Given the description of an element on the screen output the (x, y) to click on. 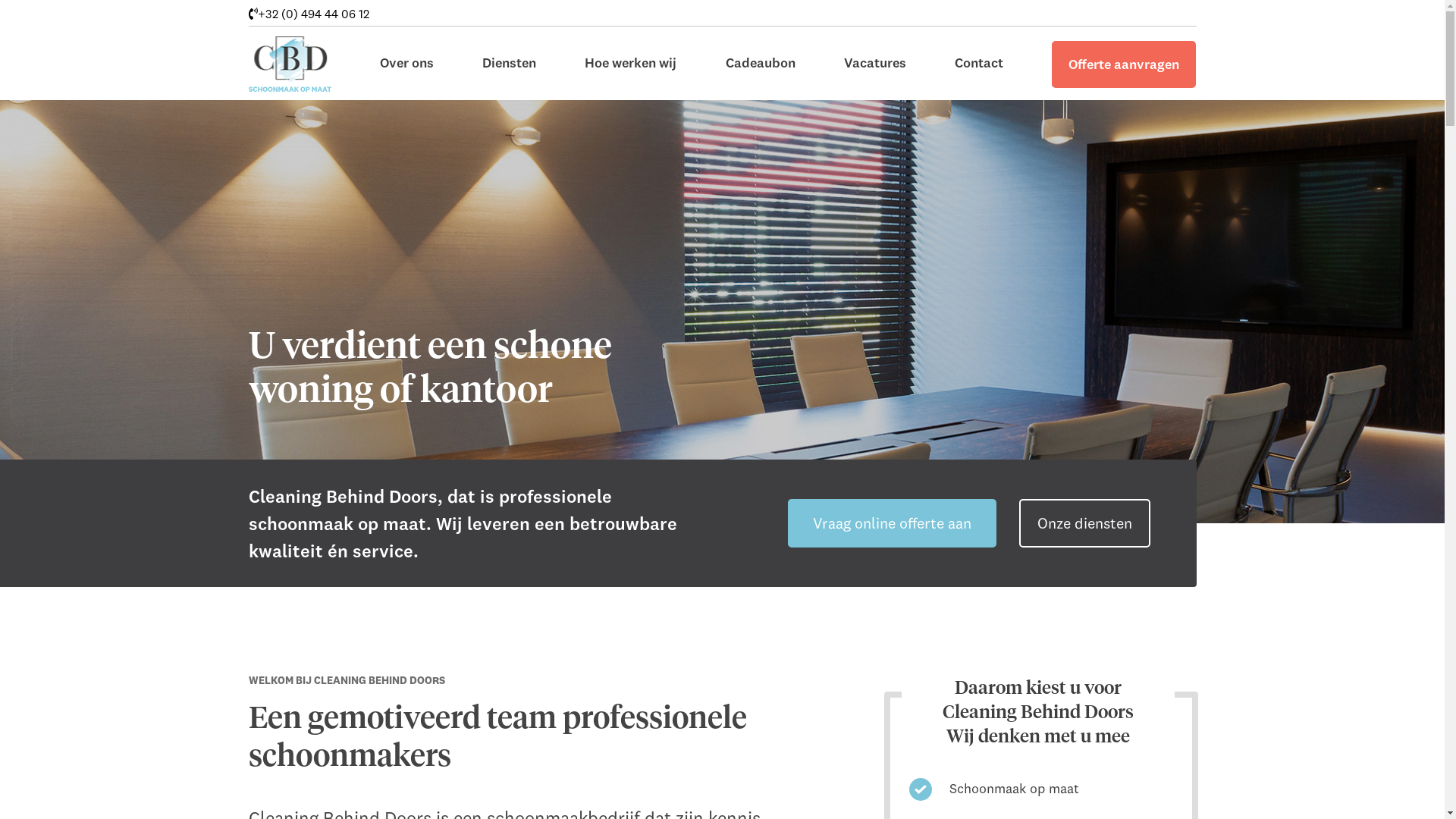
+32 (0) 494 44 06 12 Element type: text (308, 13)
Onze diensten Element type: text (1084, 522)
Vraag online offerte aan Element type: text (891, 522)
Vacatures Element type: text (875, 78)
Diensten Element type: text (509, 78)
Offerte aanvragen Element type: text (1123, 80)
Over ons Element type: text (406, 78)
Hoe werken wij Element type: text (630, 78)
Contact Element type: text (978, 78)
Cadeaubon Element type: text (760, 78)
